Given the description of an element on the screen output the (x, y) to click on. 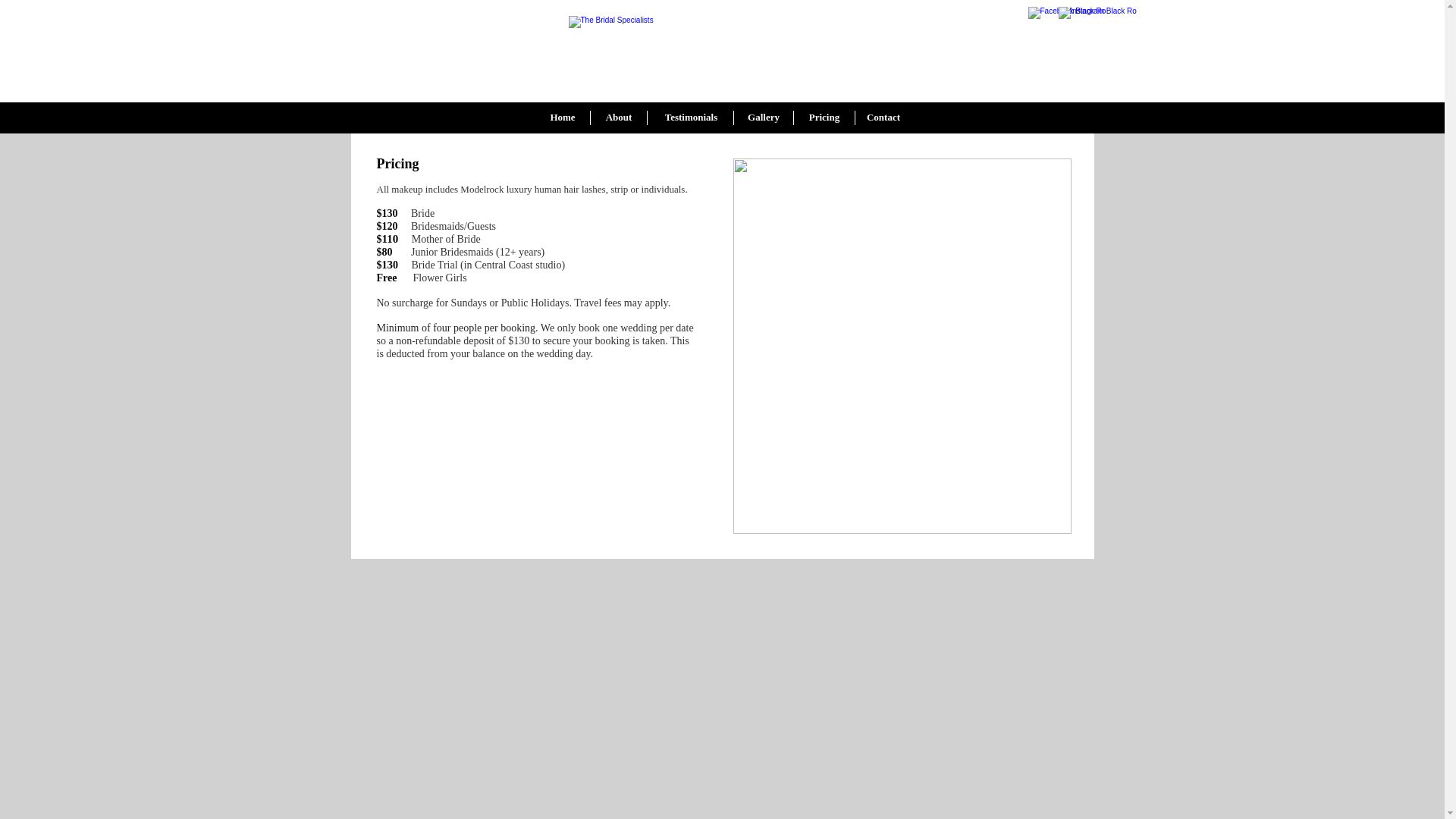
Contact Element type: text (882, 117)
Pricing Element type: text (824, 117)
Gallery Element type: text (763, 117)
Luxe Makeup Artistry Element type: hover (728, 53)
Testimonials Element type: text (691, 117)
About Element type: text (619, 117)
Home Element type: text (562, 117)
